Given the description of an element on the screen output the (x, y) to click on. 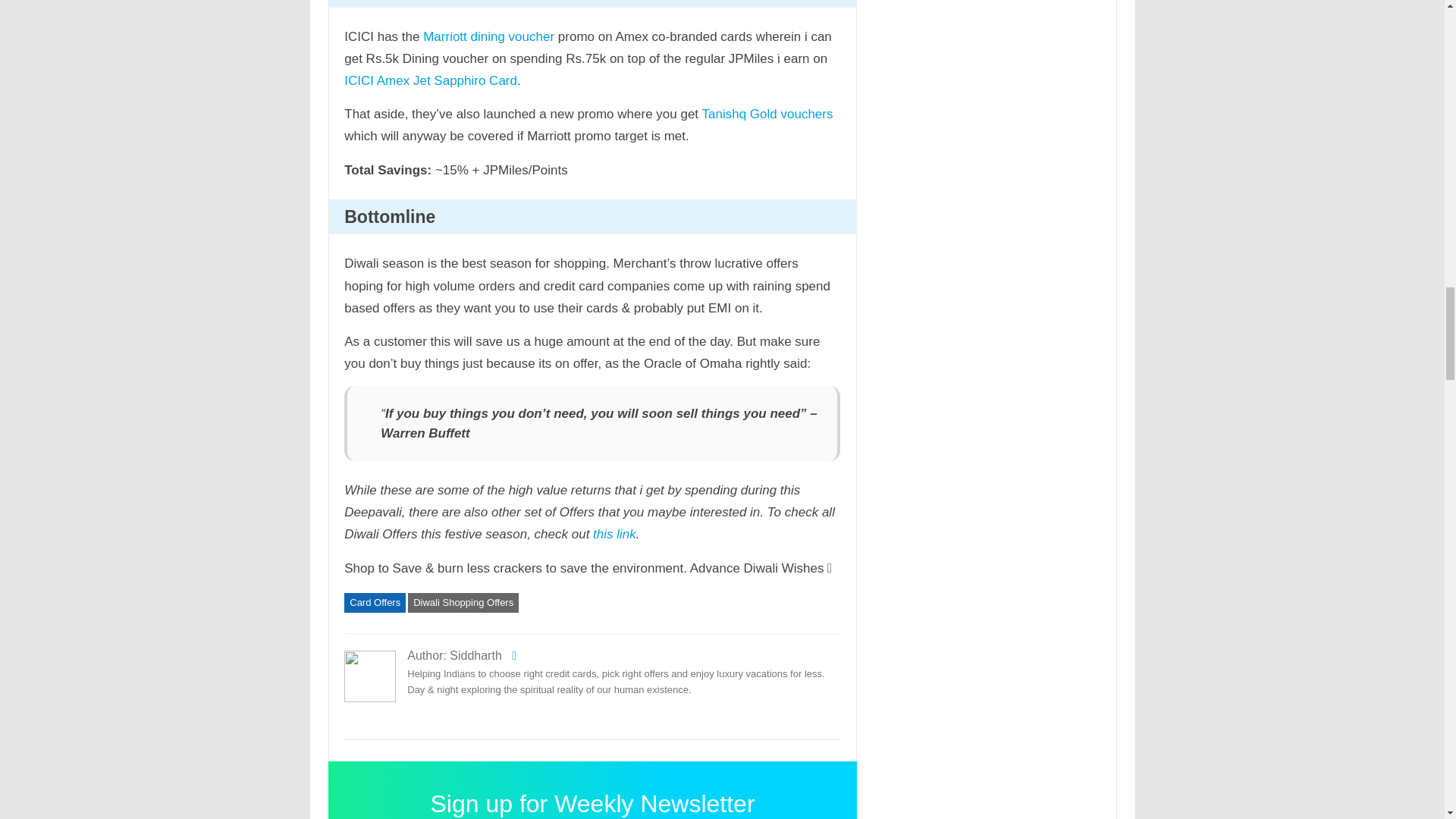
Card Offers (374, 602)
Diwali Shopping Offers (462, 602)
Tanishq Gold vouchers (766, 114)
ICICI Amex Jet Sapphiro Card (429, 80)
this link (614, 534)
Marriott dining voucher (488, 36)
